Given the description of an element on the screen output the (x, y) to click on. 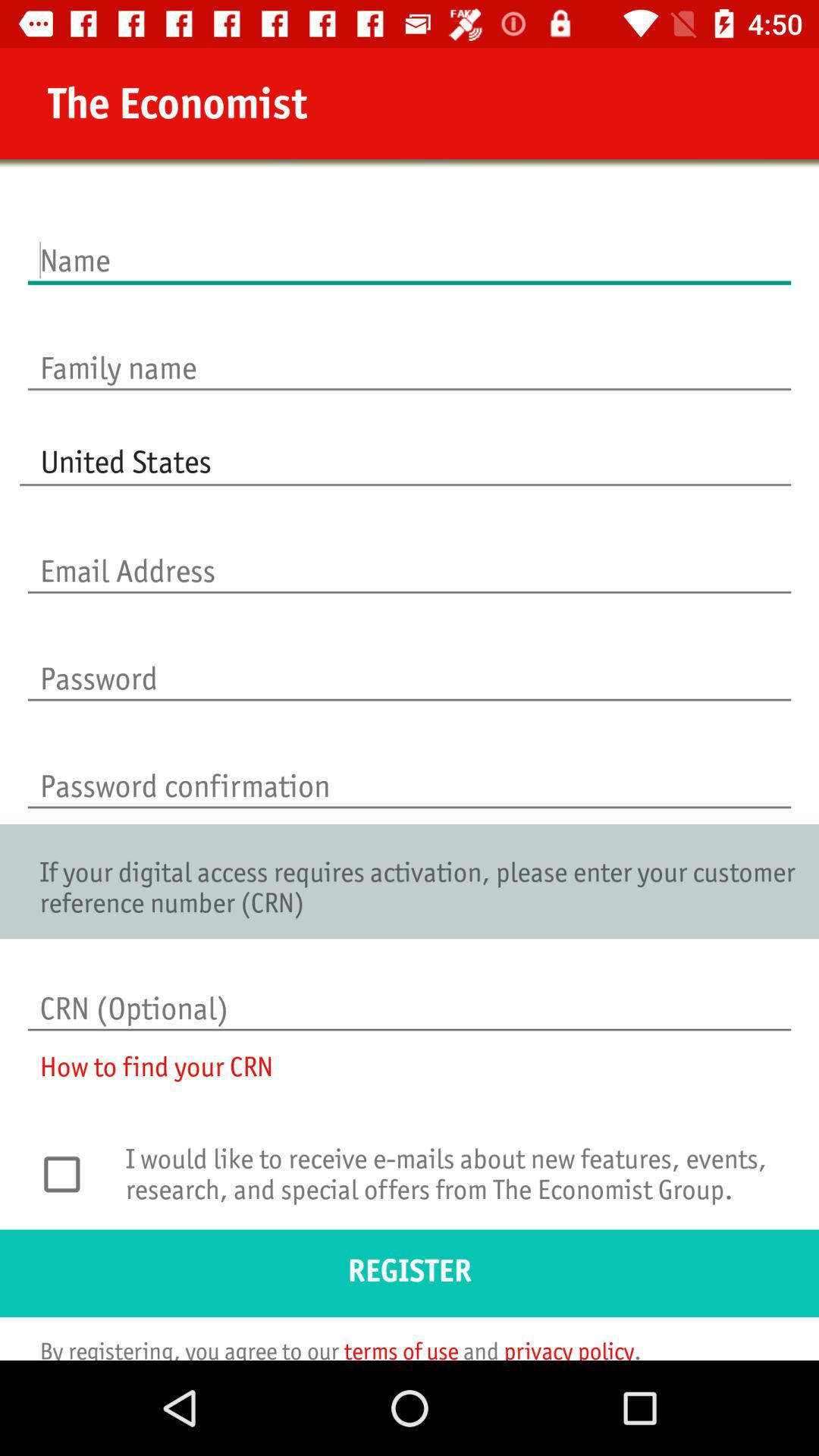
turn off icon next to the i would like item (69, 1174)
